Given the description of an element on the screen output the (x, y) to click on. 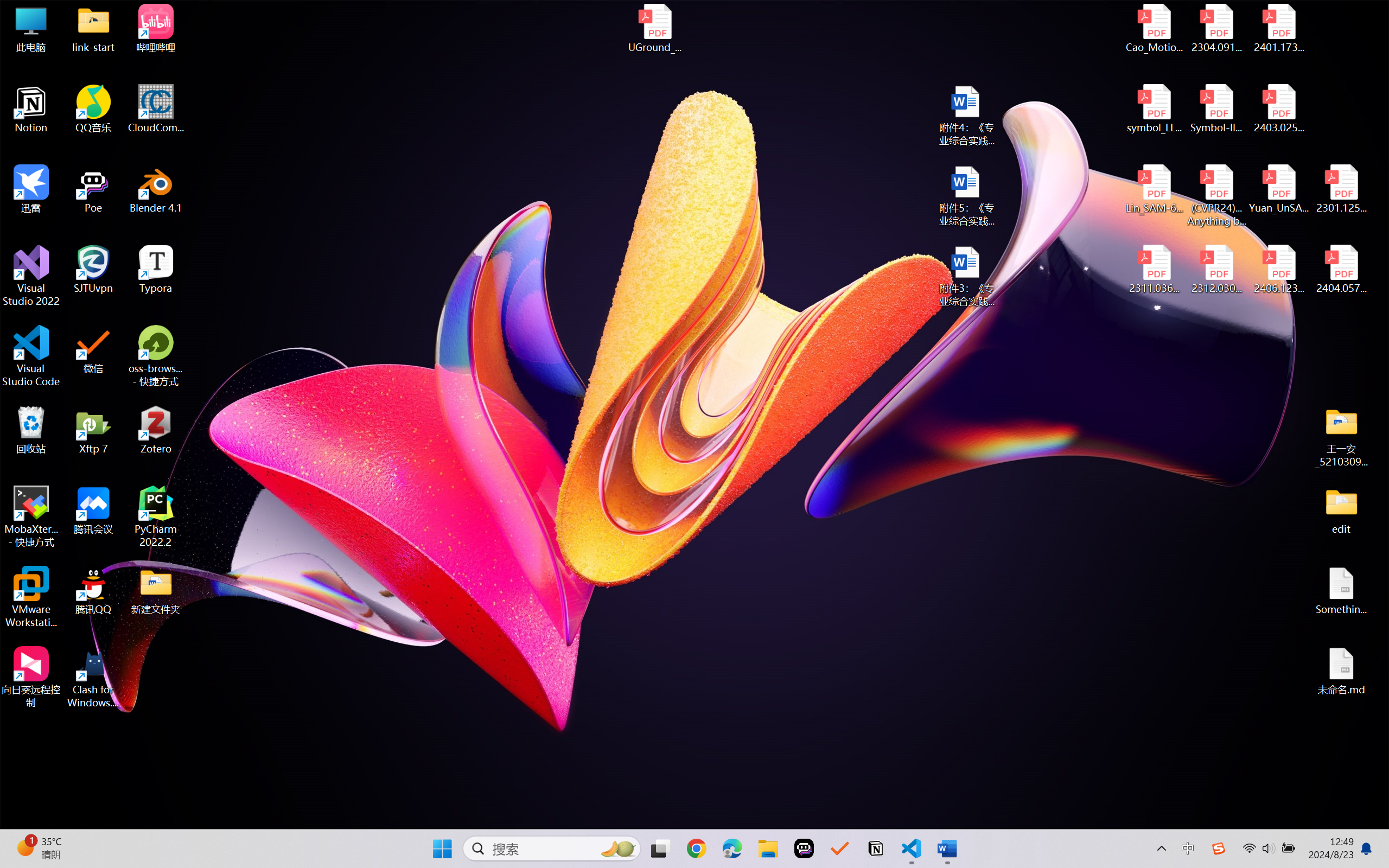
Blender 4.1 (156, 189)
Visual Studio 2022 (31, 276)
2312.03032v2.pdf (1216, 269)
Xftp 7 (93, 430)
2304.09121v3.pdf (1216, 28)
Microsoft Edge (731, 848)
